Given the description of an element on the screen output the (x, y) to click on. 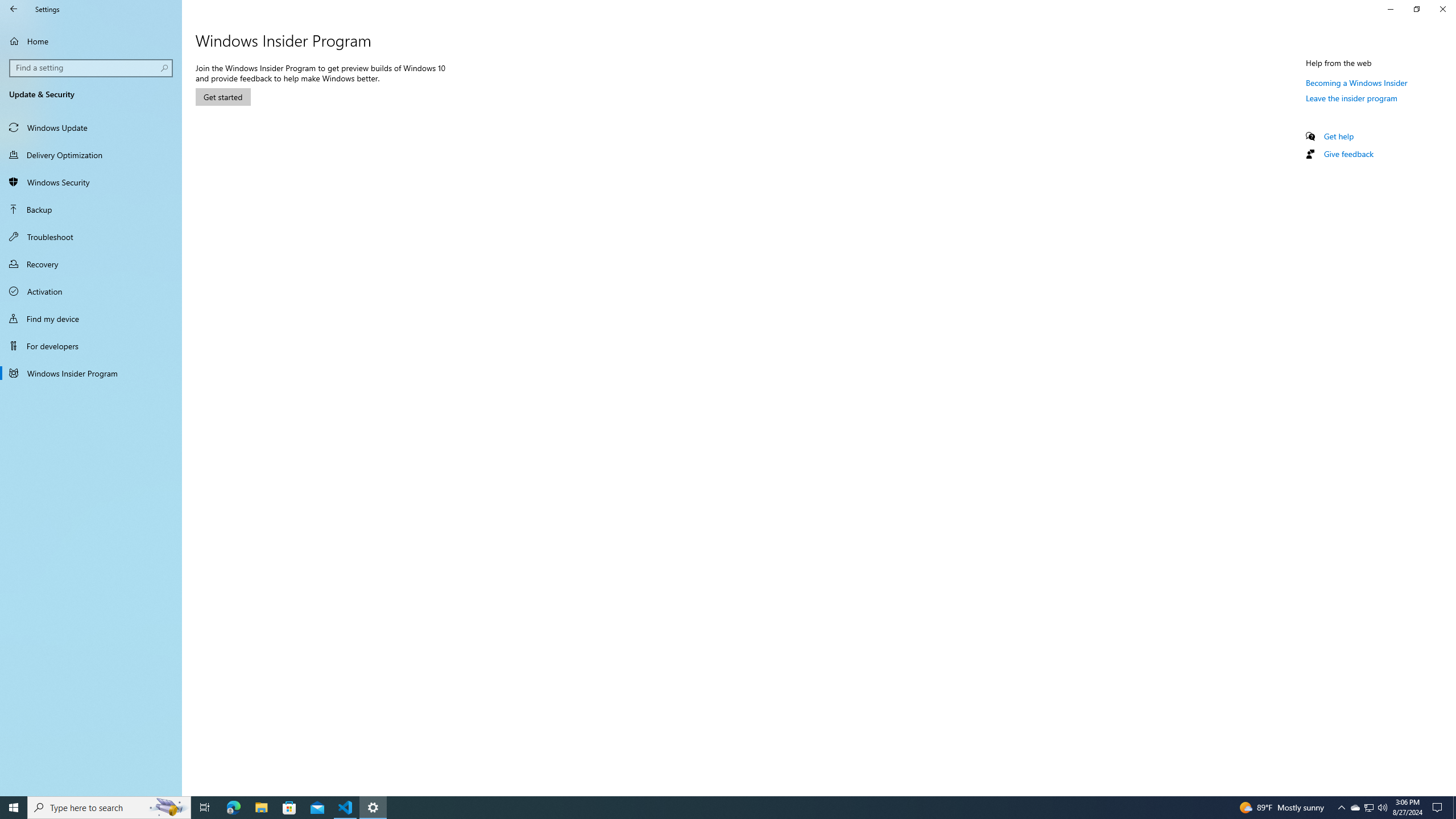
Activation (91, 290)
Windows Update (91, 126)
Get help (1338, 136)
For developers (91, 345)
Search box, Find a setting (91, 67)
Close Settings (1442, 9)
Running applications (717, 807)
Minimize Settings (1390, 9)
Windows Security (91, 181)
